Given the description of an element on the screen output the (x, y) to click on. 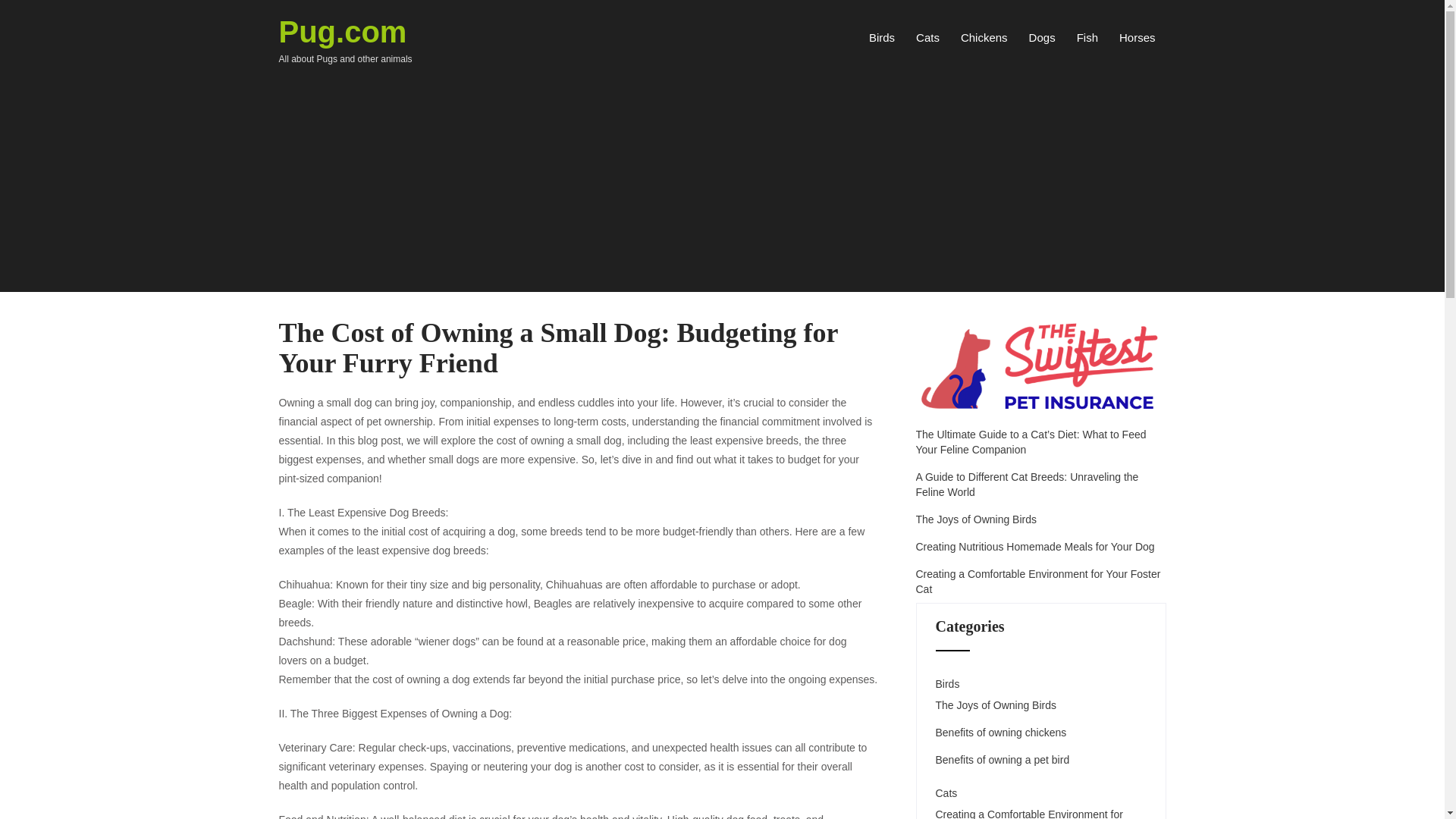
Creating a Comfortable Environment for Your Foster Cat (1040, 581)
Benefits of owning chickens (1001, 732)
Benefits of owning a pet bird (1003, 759)
Birds (882, 37)
Horses (345, 44)
The Joys of Owning Birds (1137, 37)
The Joys of Owning Birds (996, 704)
Chickens (975, 519)
Fish (983, 37)
